Given the description of an element on the screen output the (x, y) to click on. 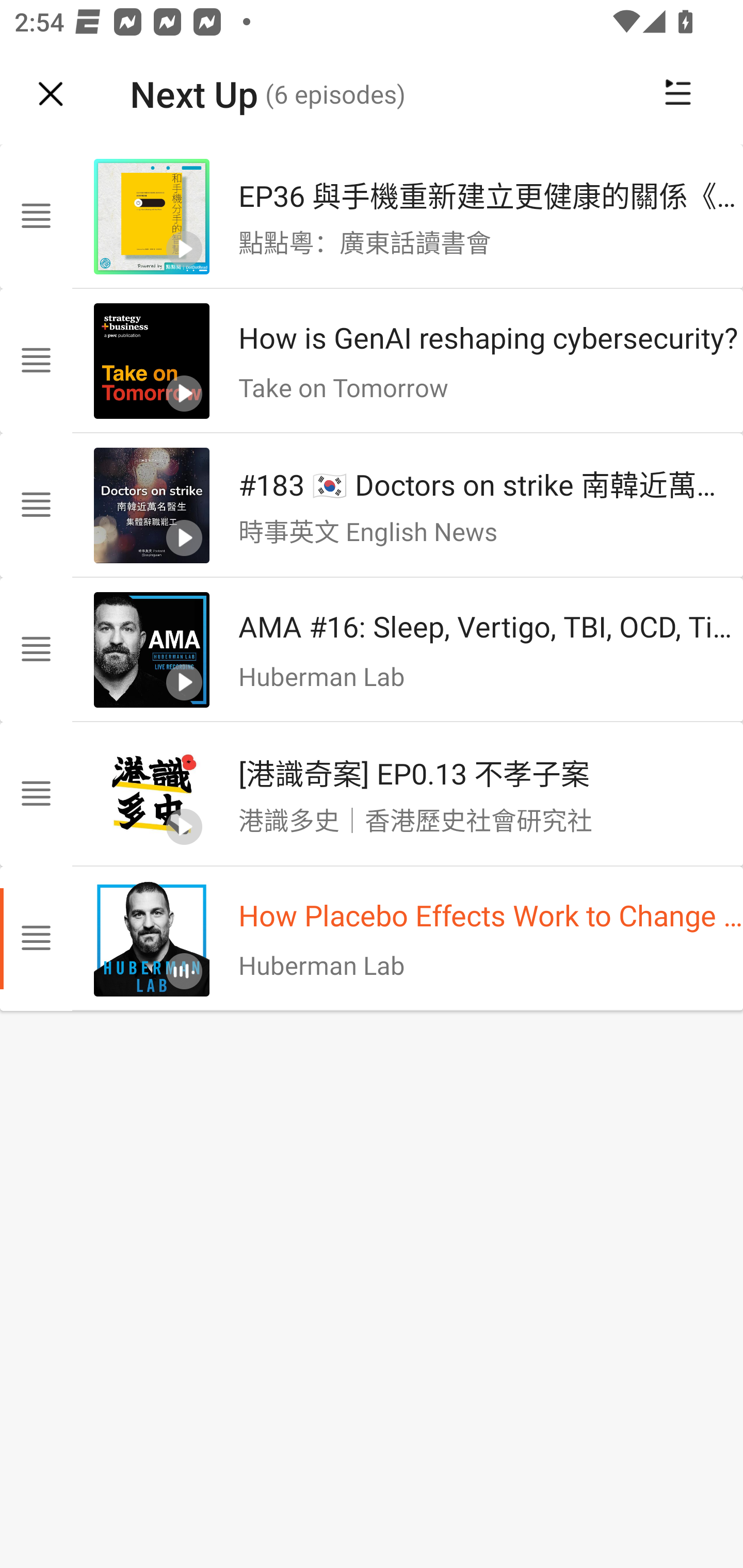
Navigate up (50, 93)
